Given the description of an element on the screen output the (x, y) to click on. 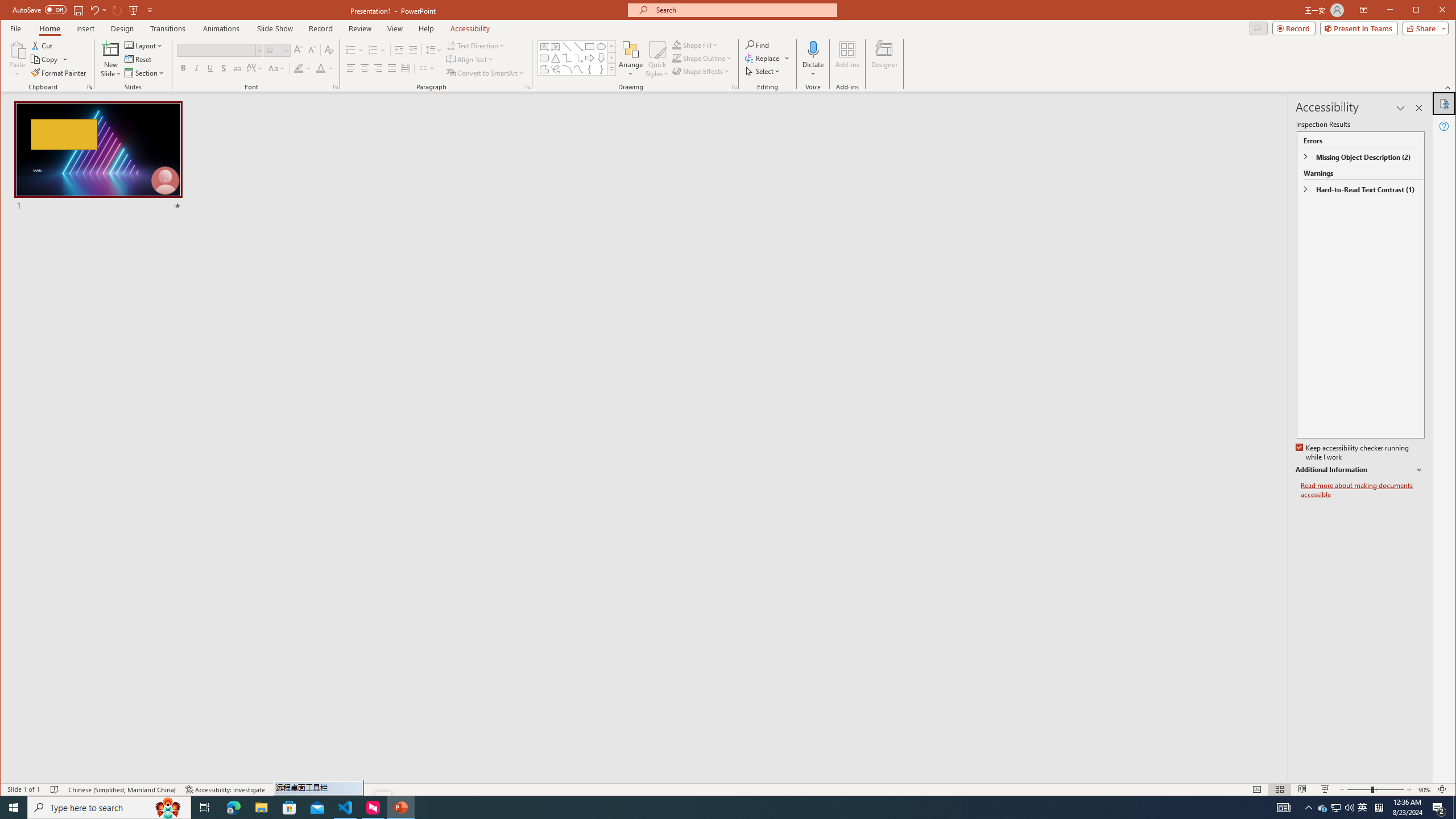
Maximize (1432, 11)
Accessibility (1362, 807)
New Slide (1444, 102)
Slide Show (110, 48)
Freeform: Scribble (1324, 789)
Dictate (556, 69)
Numbering (812, 59)
Cut (373, 49)
User Promoted Notification Area (42, 45)
Reading View (1336, 807)
File Tab (1302, 789)
Comments (15, 27)
Distributed (1258, 28)
